Given the description of an element on the screen output the (x, y) to click on. 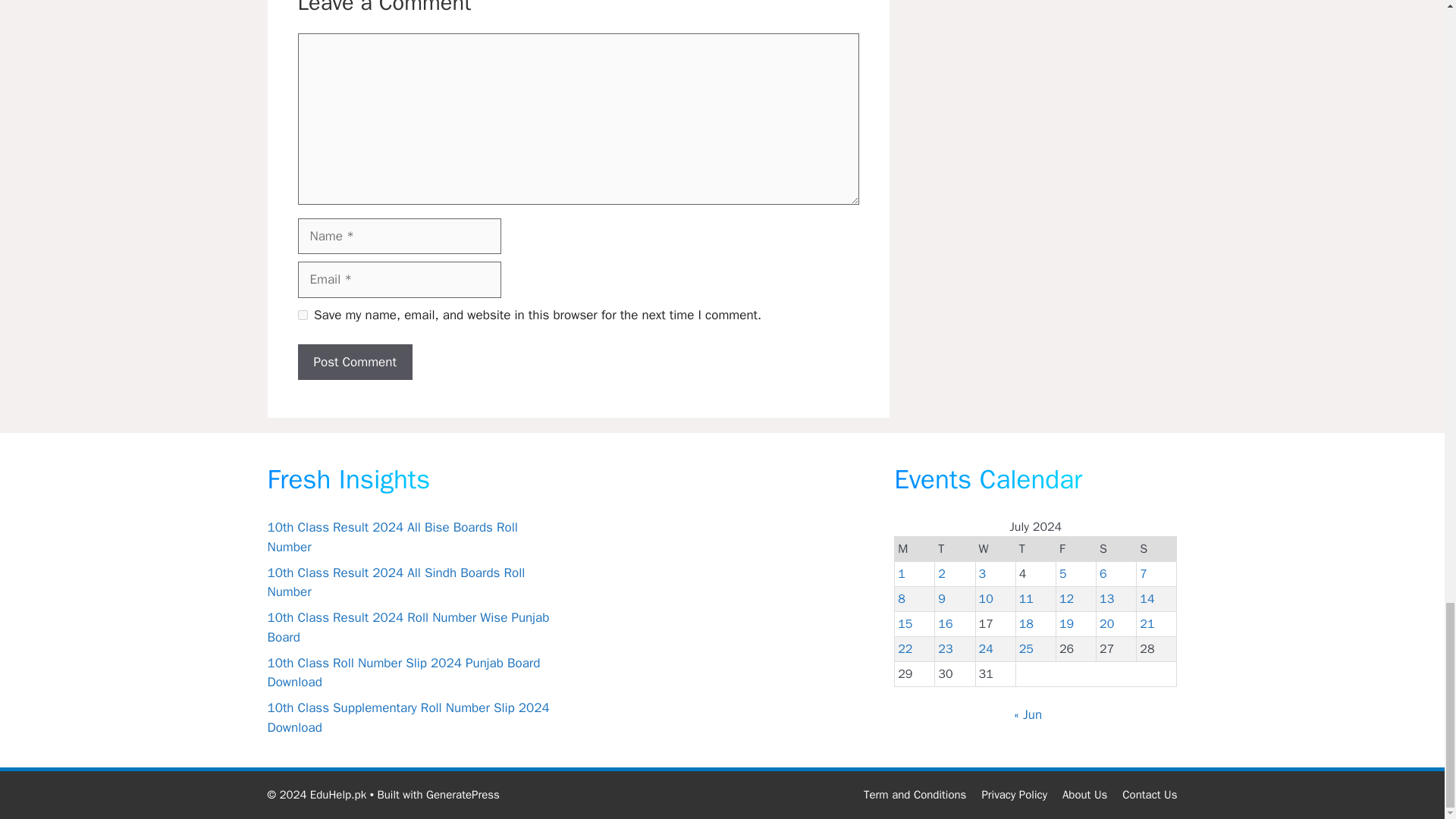
Monday (914, 549)
Friday (1075, 549)
Post Comment (354, 361)
Wednesday (994, 549)
Tuesday (954, 549)
Thursday (1034, 549)
yes (302, 315)
